Given the description of an element on the screen output the (x, y) to click on. 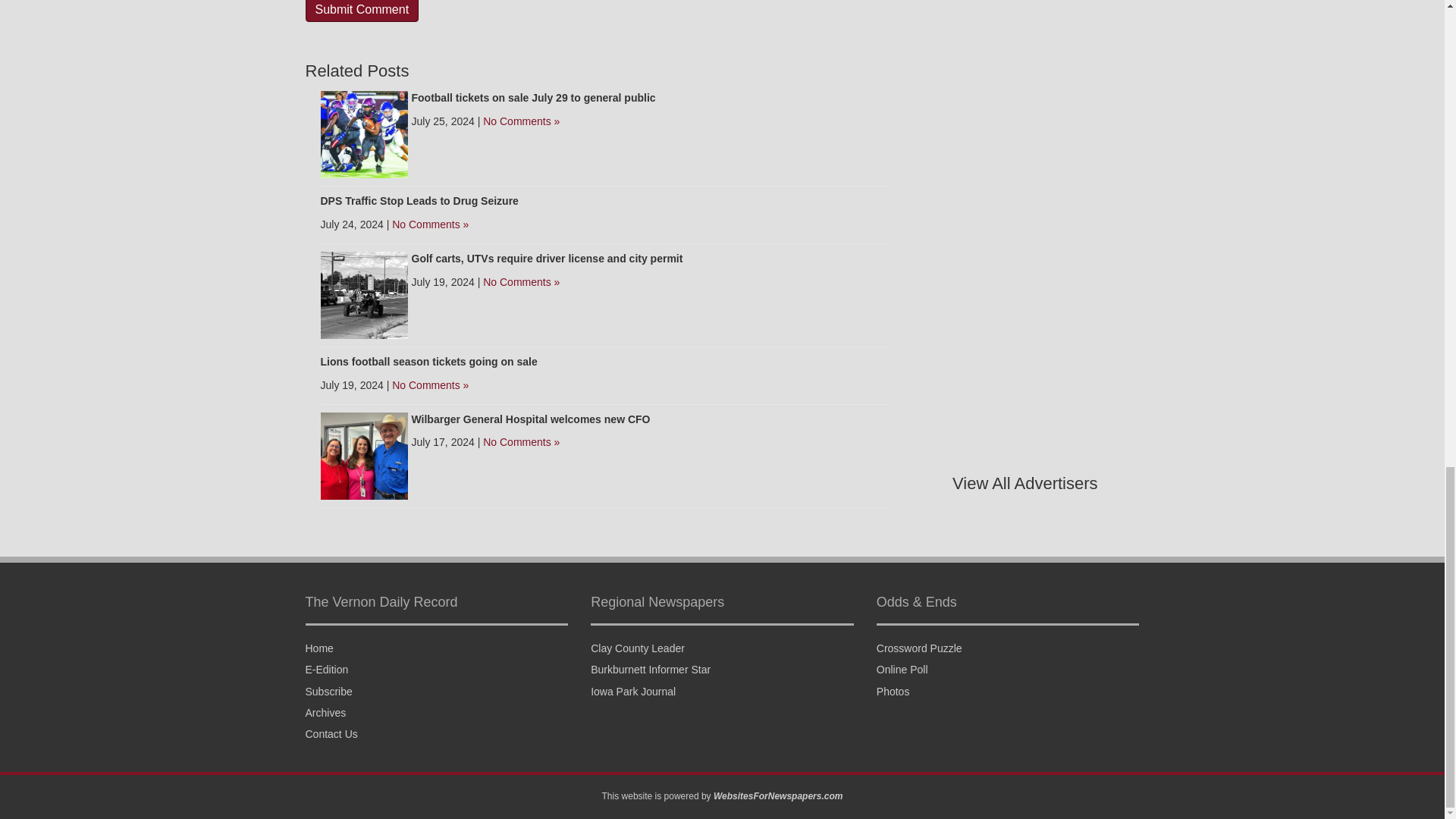
Submit Comment (361, 11)
Submit Comment (361, 11)
DPS Traffic Stop Leads to Drug Seizure (419, 200)
Football tickets on sale July 29 to general public (532, 97)
Football tickets on sale July 29 to general public (363, 133)
Lions football season tickets going on sale (428, 361)
Wilbarger General Hospital welcomes new CFO (529, 419)
Wilbarger General Hospital welcomes new CFO (363, 454)
Golf carts, UTVs require driver license and city permit (363, 294)
Football tickets on sale July 29 to general public (532, 97)
